Given the description of an element on the screen output the (x, y) to click on. 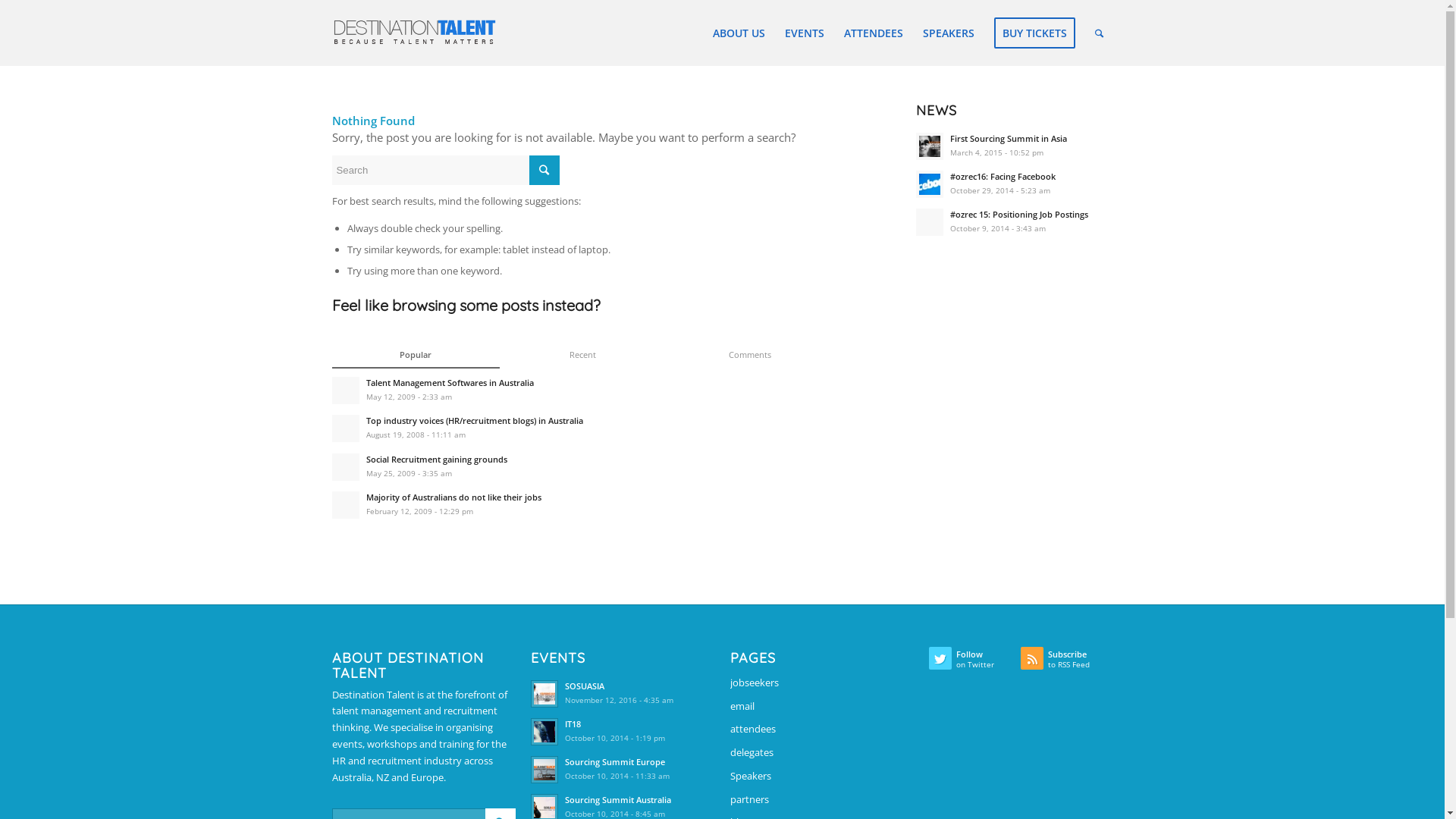
Sourcing Summit Europe
October 10, 2014 - 11:33 am Element type: text (622, 768)
SPEAKERS Element type: text (948, 32)
EVENTS Element type: text (804, 32)
attendees Element type: text (821, 729)
email Element type: text (821, 706)
#ozrec16: Facing Facebook
October 29, 2014 - 5:23 am Element type: text (1014, 182)
Speakers Element type: text (821, 776)
SOSUASIA
November 12, 2016 - 4:35 am Element type: text (622, 692)
ABOUT US Element type: text (738, 32)
ATTENDEES Element type: text (873, 32)
First Sourcing Summit in Asia
March 4, 2015 - 10:52 pm Element type: text (1014, 144)
BUY TICKETS Element type: text (1034, 32)
partners Element type: text (821, 800)
Subscribe
to RSS Feed Element type: text (1066, 661)
IT18
October 10, 2014 - 1:19 pm Element type: text (622, 730)
Social Recruitment gaining grounds
May 25, 2009 - 3:35 am Element type: text (586, 465)
jobseekers Element type: text (821, 683)
Follow
on Twitter Element type: text (974, 661)
delegates Element type: text (821, 753)
